Given the description of an element on the screen output the (x, y) to click on. 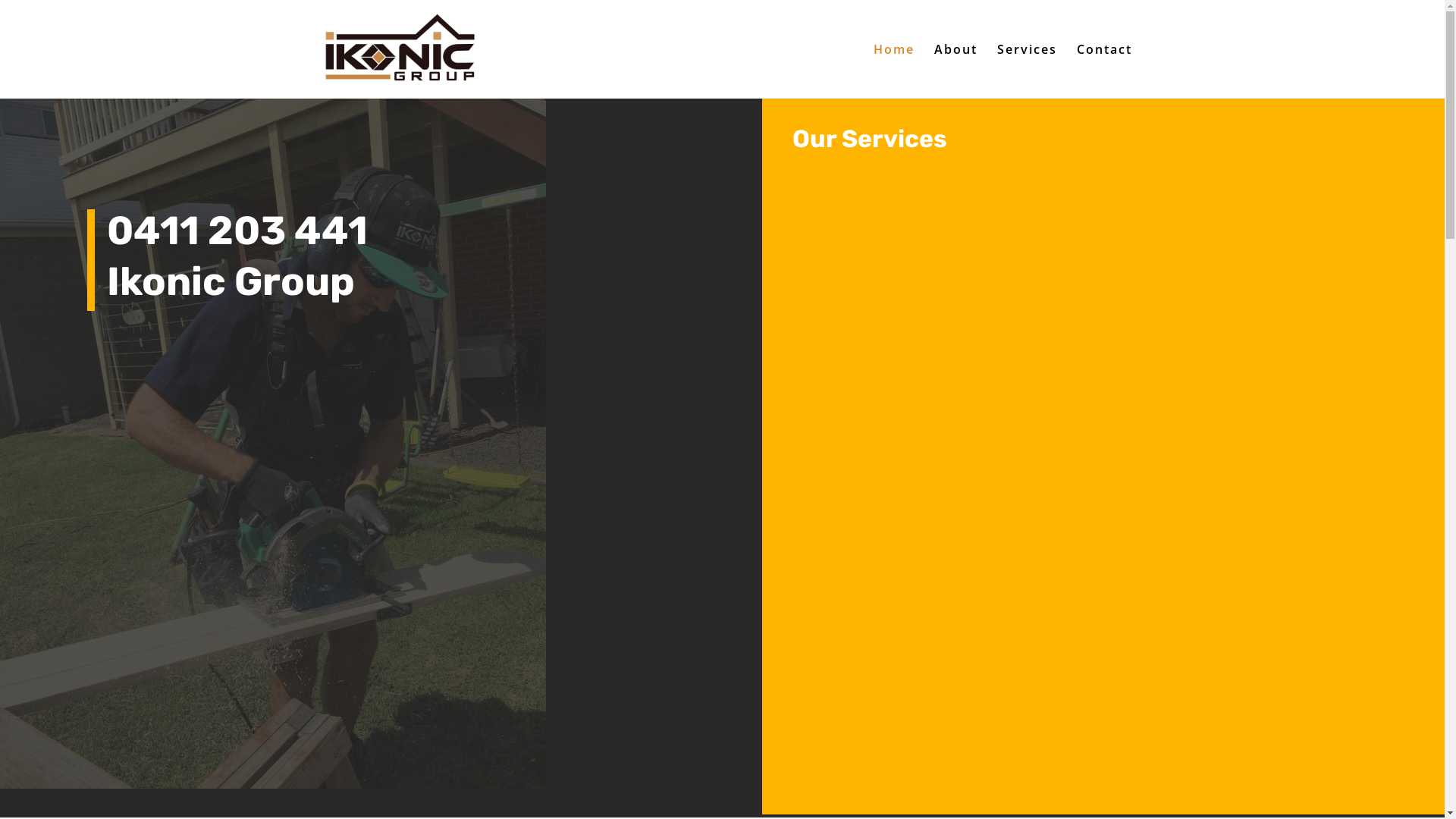
Services Element type: text (1026, 70)
About Element type: text (955, 70)
Contact Element type: text (1104, 70)
Home Element type: text (893, 70)
